Given the description of an element on the screen output the (x, y) to click on. 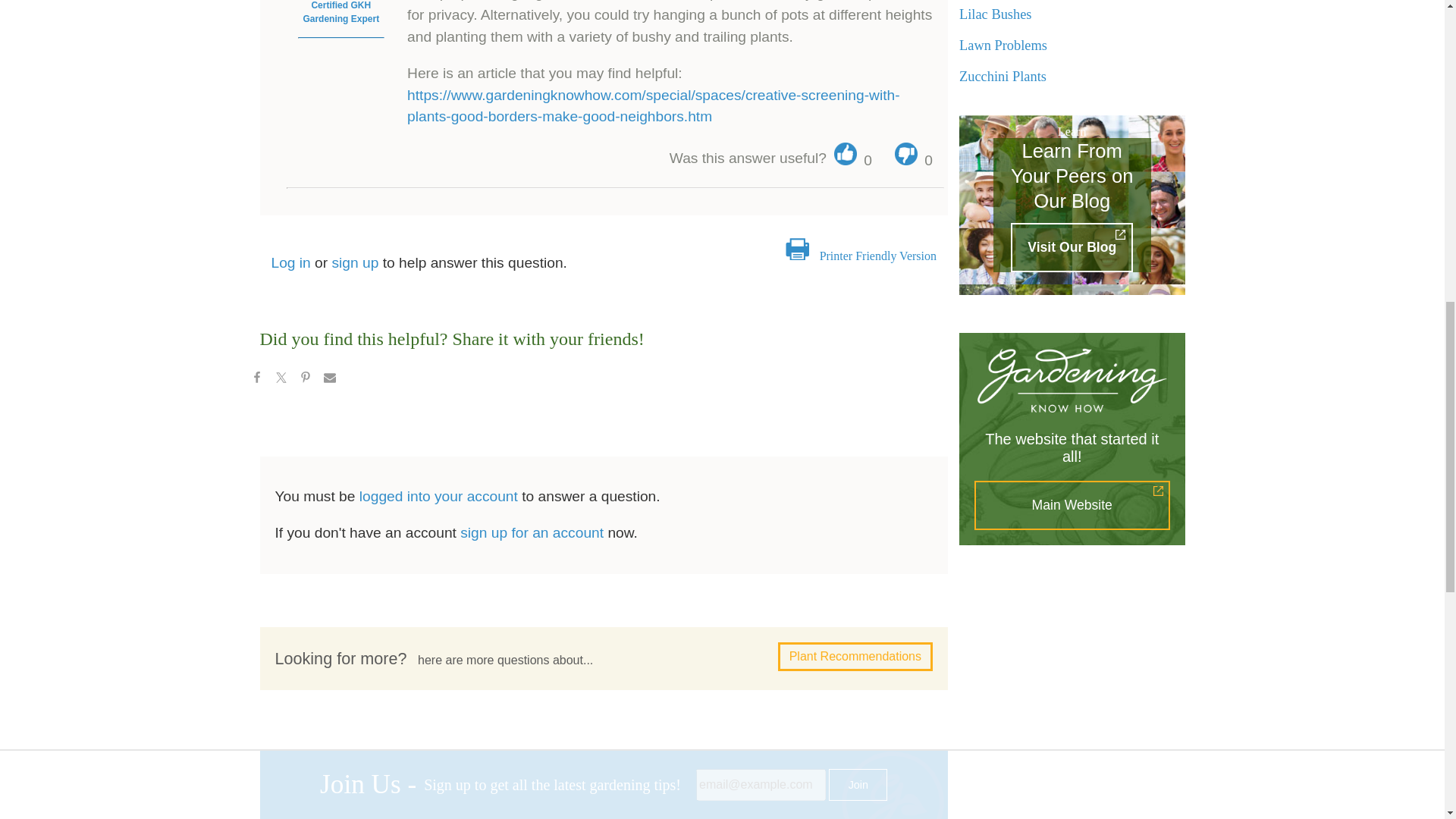
Plant Recommendations (855, 656)
logged into your account (438, 496)
Share on Facebook (255, 379)
Printer Friendly Version (877, 255)
Log in (290, 262)
Share on Twitter (279, 379)
Share via Email (328, 379)
sign up for an account (532, 532)
Share on Pinterest (304, 379)
Printer Friendly Version (877, 255)
sign up (354, 262)
Join (857, 784)
